Given the description of an element on the screen output the (x, y) to click on. 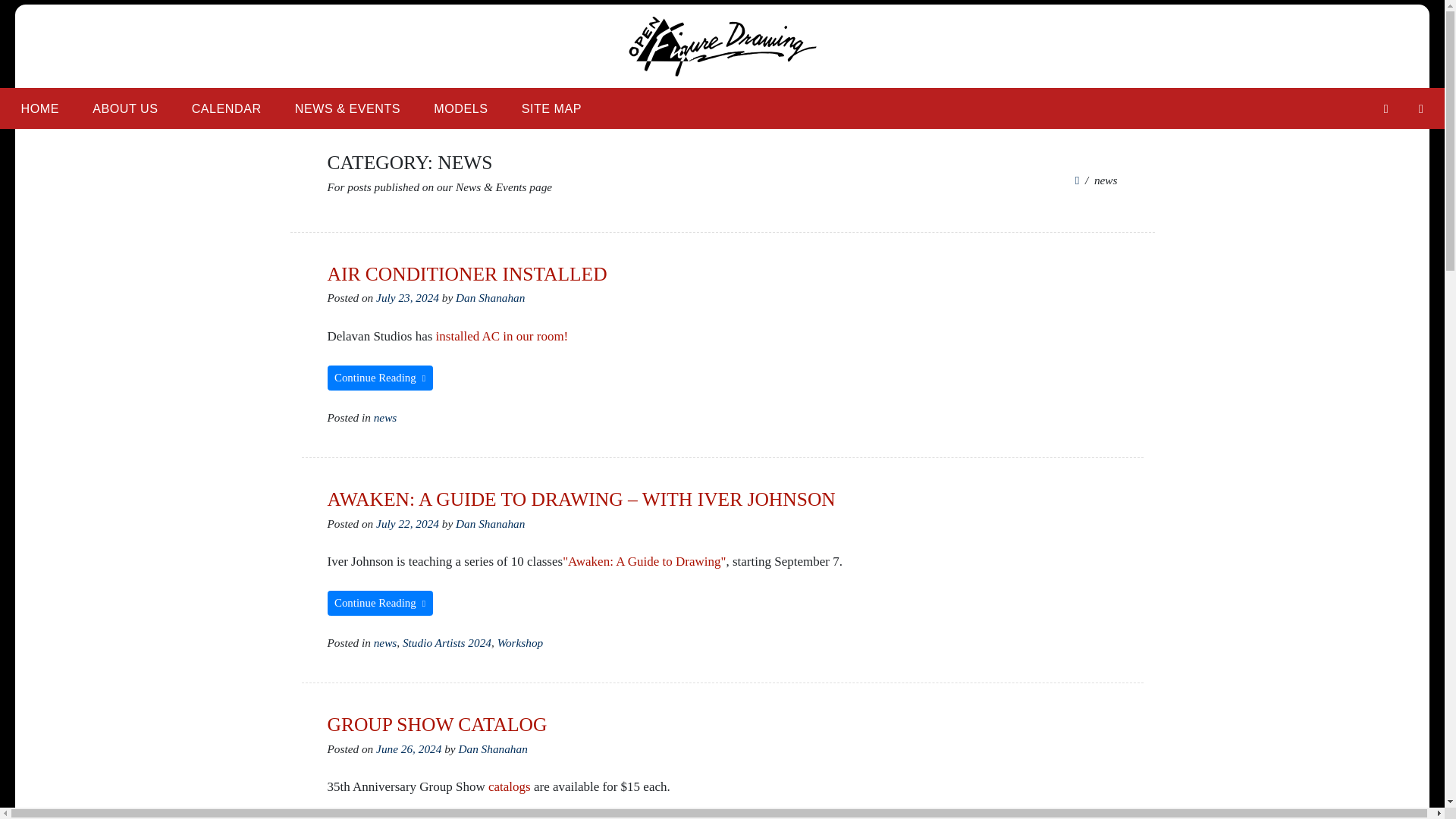
ABOUT US (125, 107)
MODELS (460, 107)
HOME (39, 107)
OPEN FIGURE DRAWING (474, 95)
CALENDAR (226, 107)
